Given the description of an element on the screen output the (x, y) to click on. 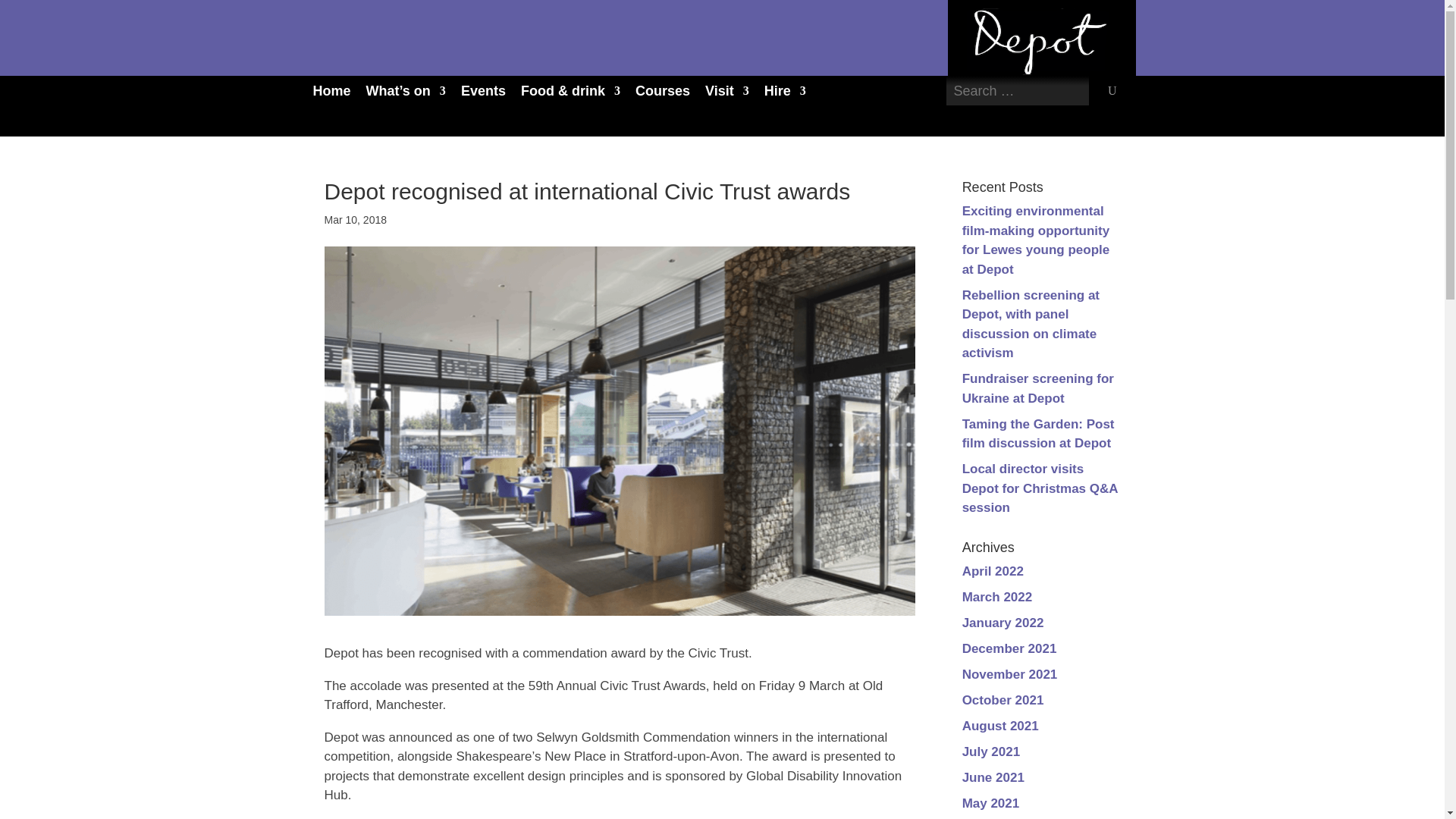
Hire (785, 90)
Home (331, 90)
Search for: (1017, 90)
Events (483, 90)
Courses (662, 90)
Visit (726, 90)
